Given the description of an element on the screen output the (x, y) to click on. 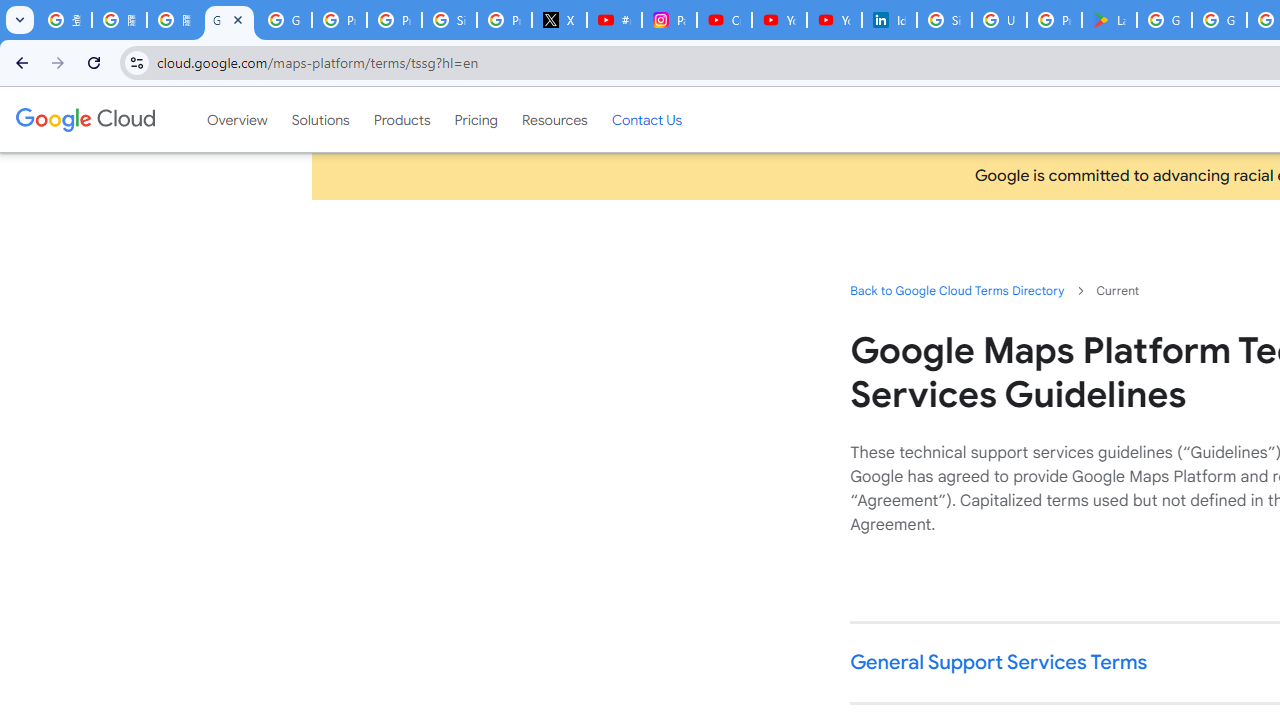
X (559, 20)
#nbabasketballhighlights - YouTube (614, 20)
Pricing (476, 119)
Overview (236, 119)
Identity verification via Persona | LinkedIn Help (888, 20)
Back to Google Cloud Terms Directory (956, 290)
Contact Us (646, 119)
Google Workspace - Specific Terms (1218, 20)
